Given the description of an element on the screen output the (x, y) to click on. 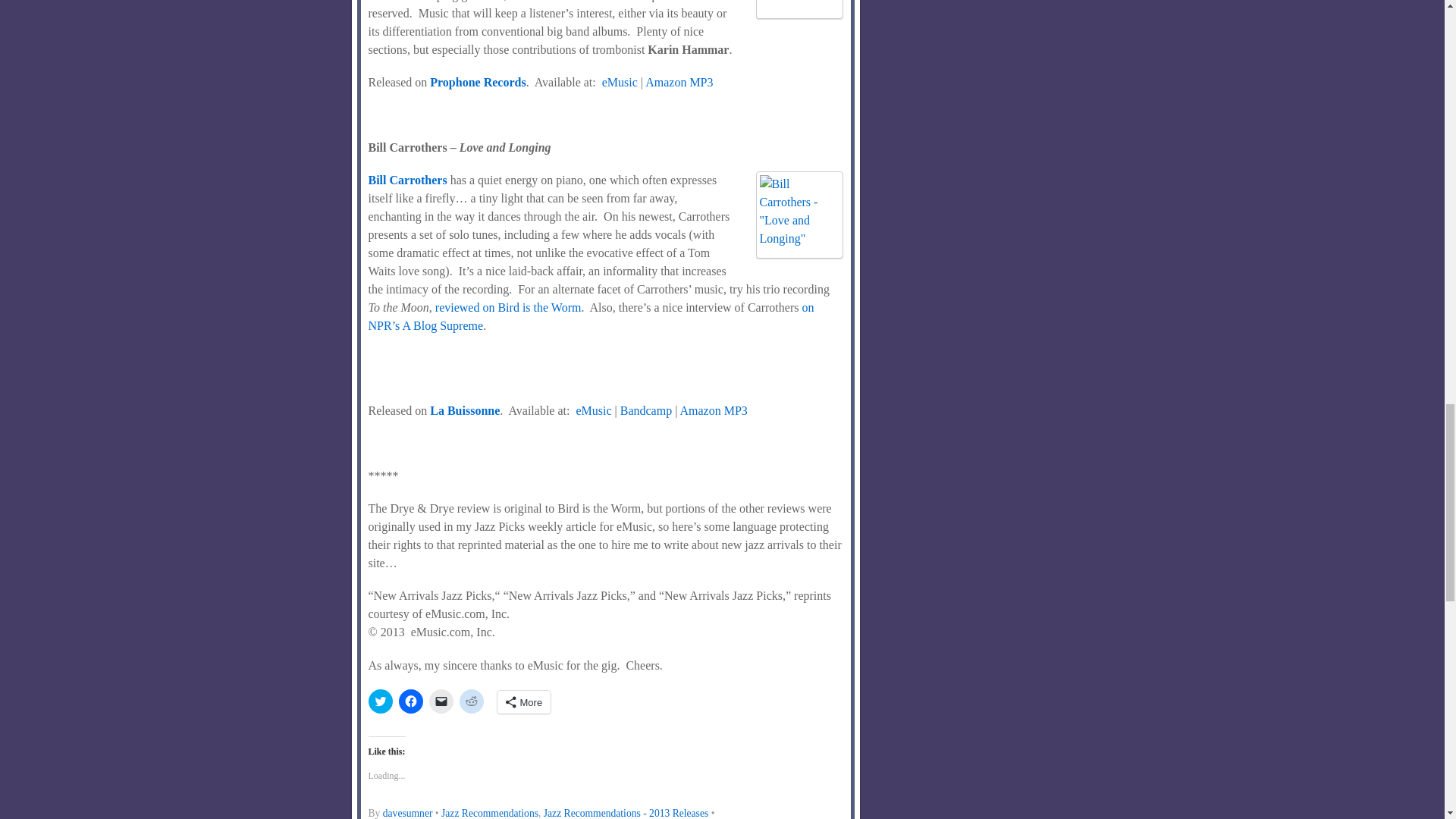
eMusic (619, 82)
reviewed on Bird is the Worm (507, 307)
Prophone Records (477, 82)
La Buissonne (464, 410)
Bill Carrothers (407, 179)
Amazon MP3 (679, 82)
